Given the description of an element on the screen output the (x, y) to click on. 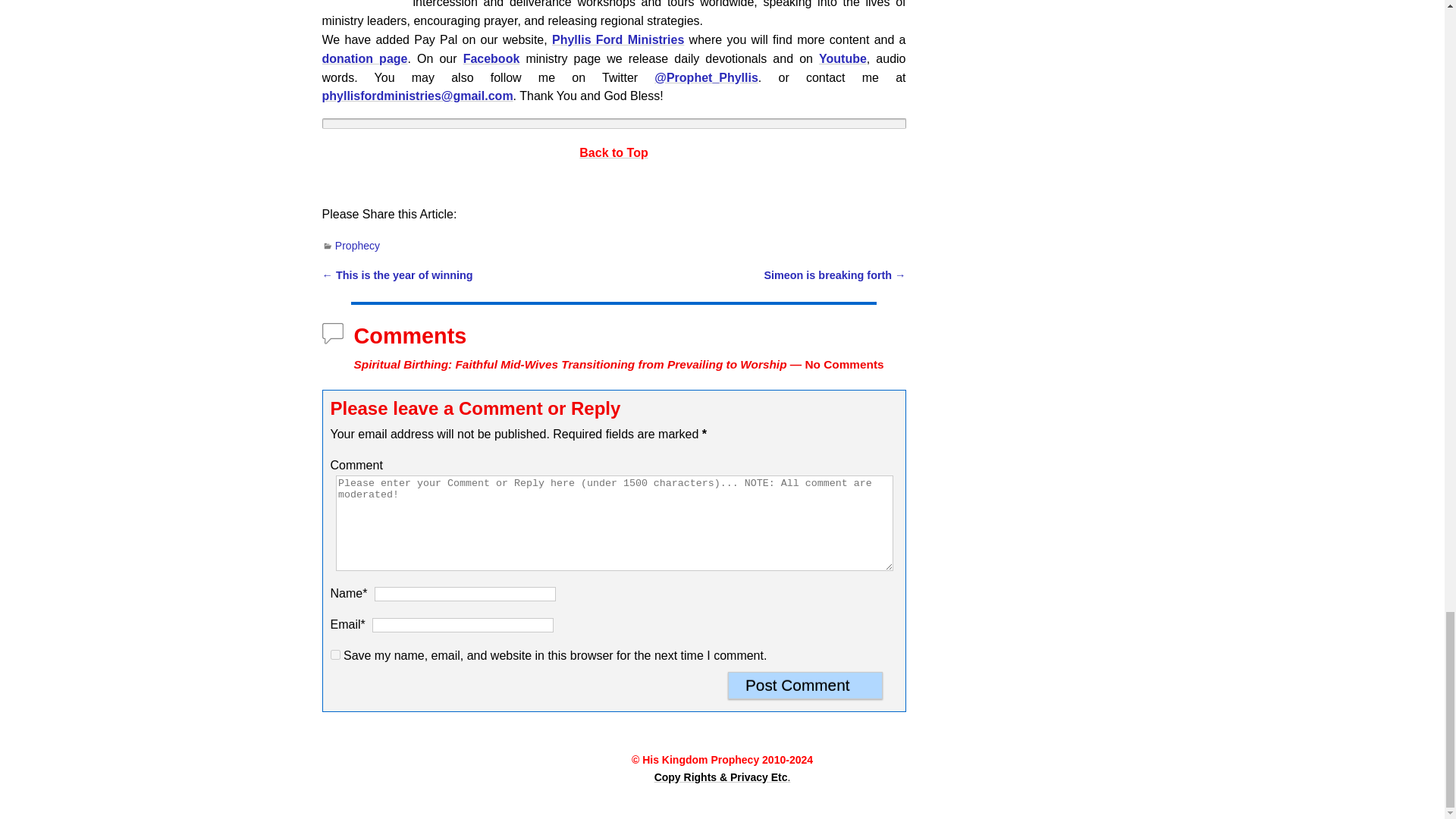
yes (335, 655)
Post Comment (805, 685)
